Given the description of an element on the screen output the (x, y) to click on. 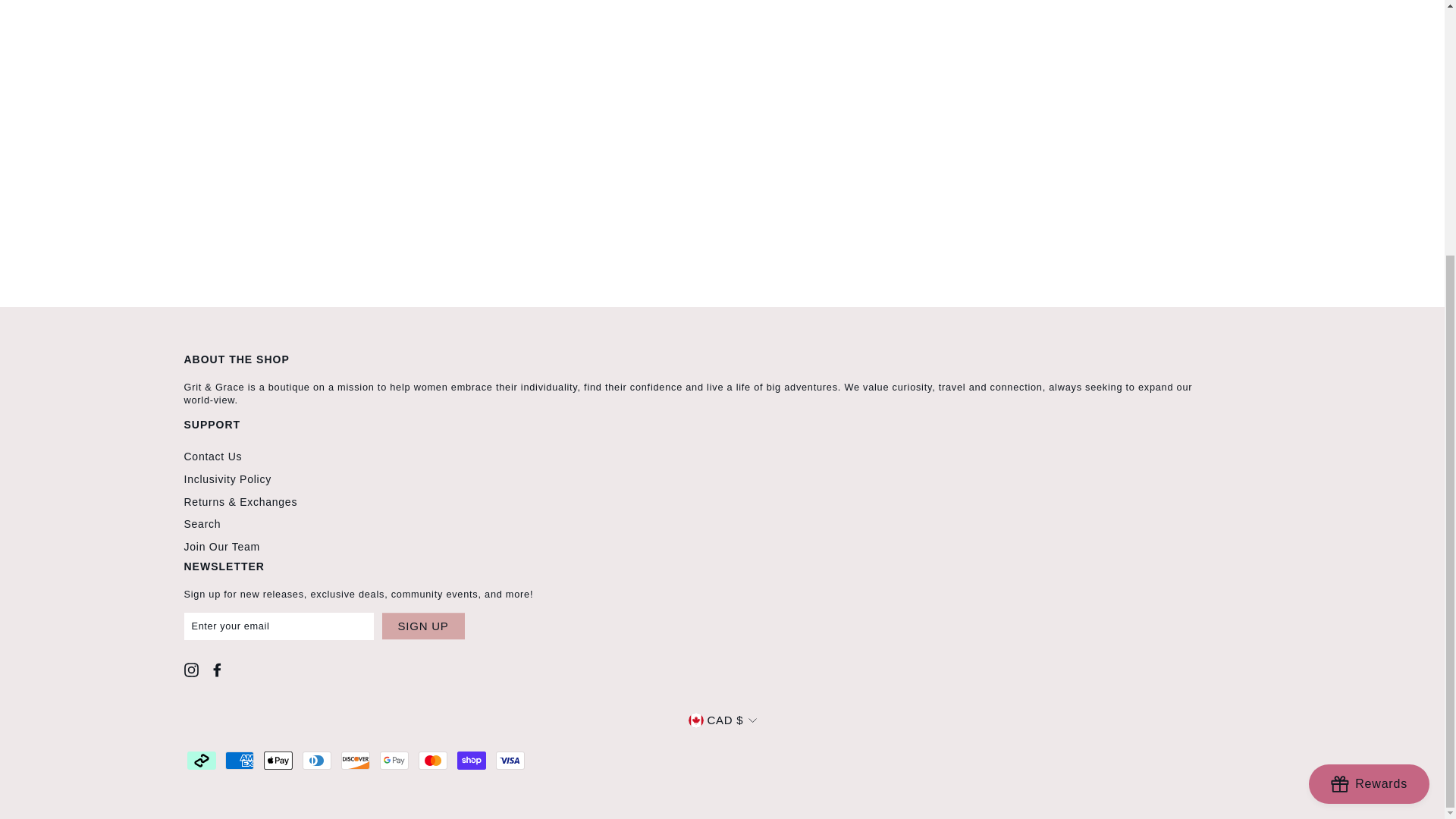
Discover (354, 760)
American Express (239, 760)
Afterpay (200, 760)
Visa (510, 760)
Shop Pay (471, 760)
Google Pay (394, 760)
Mastercard (432, 760)
Diners Club (316, 760)
Apple Pay (277, 760)
